Given the description of an element on the screen output the (x, y) to click on. 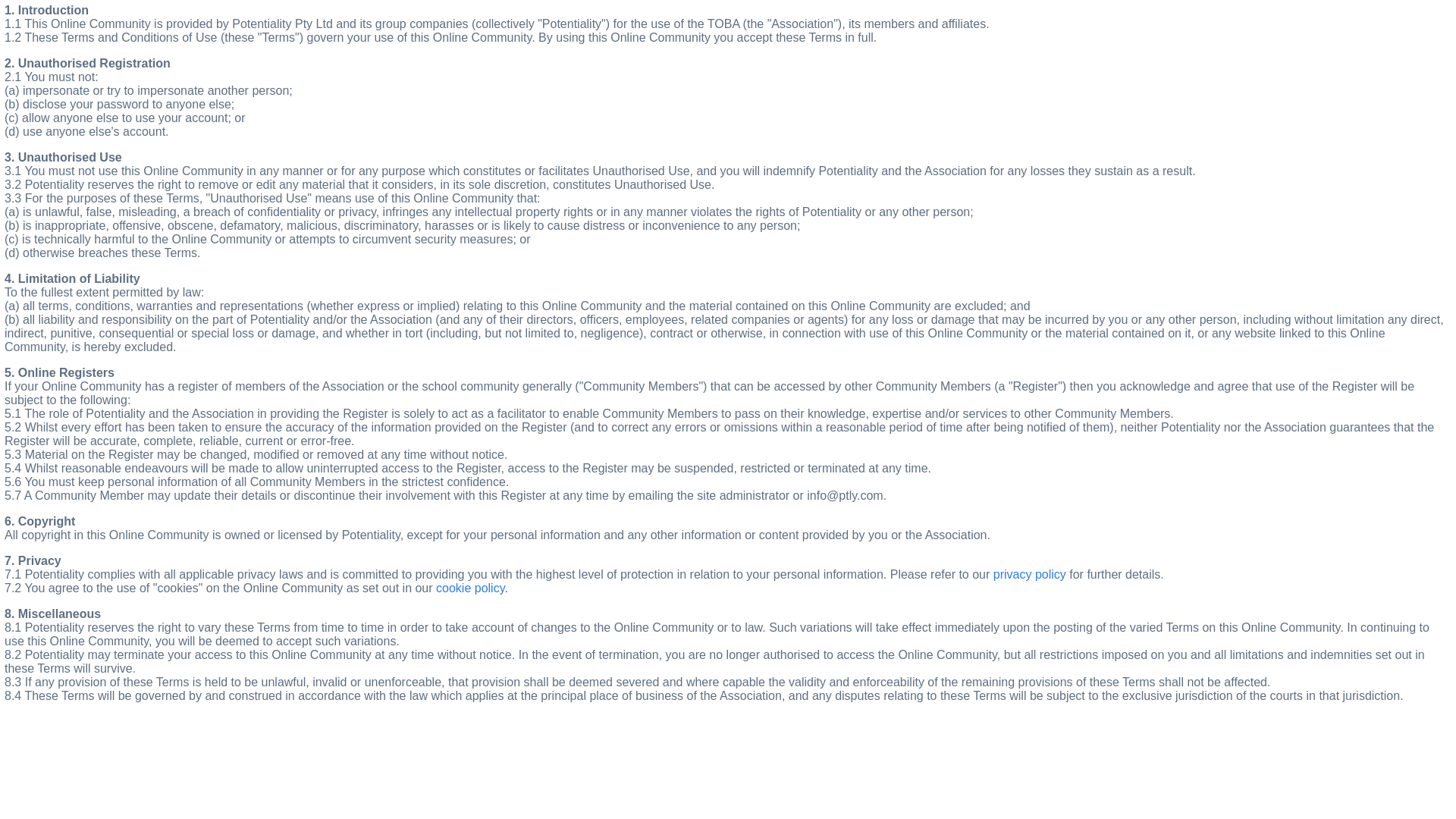
cookie policy Element type: text (470, 587)
privacy policy Element type: text (1029, 573)
